Given the description of an element on the screen output the (x, y) to click on. 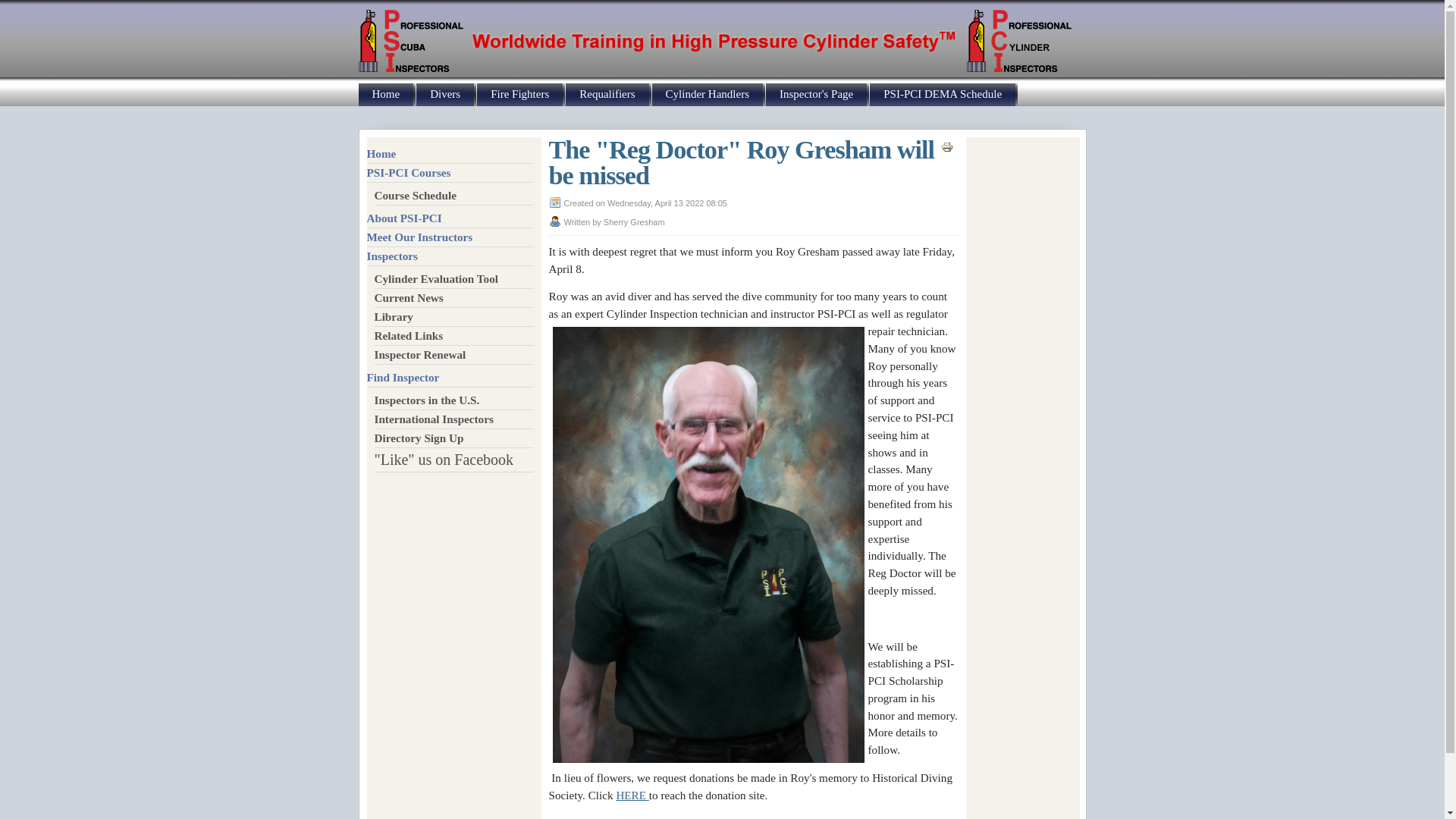
Current News (454, 298)
Inspectors (450, 256)
Course Schedule (454, 195)
Meet Our Instructors (450, 237)
HERE (631, 794)
Fire Fighters (519, 94)
Home (450, 153)
Divers (445, 94)
Cylinder Evaluation Tool (454, 279)
Cylinder Handlers (707, 94)
